Given the description of an element on the screen output the (x, y) to click on. 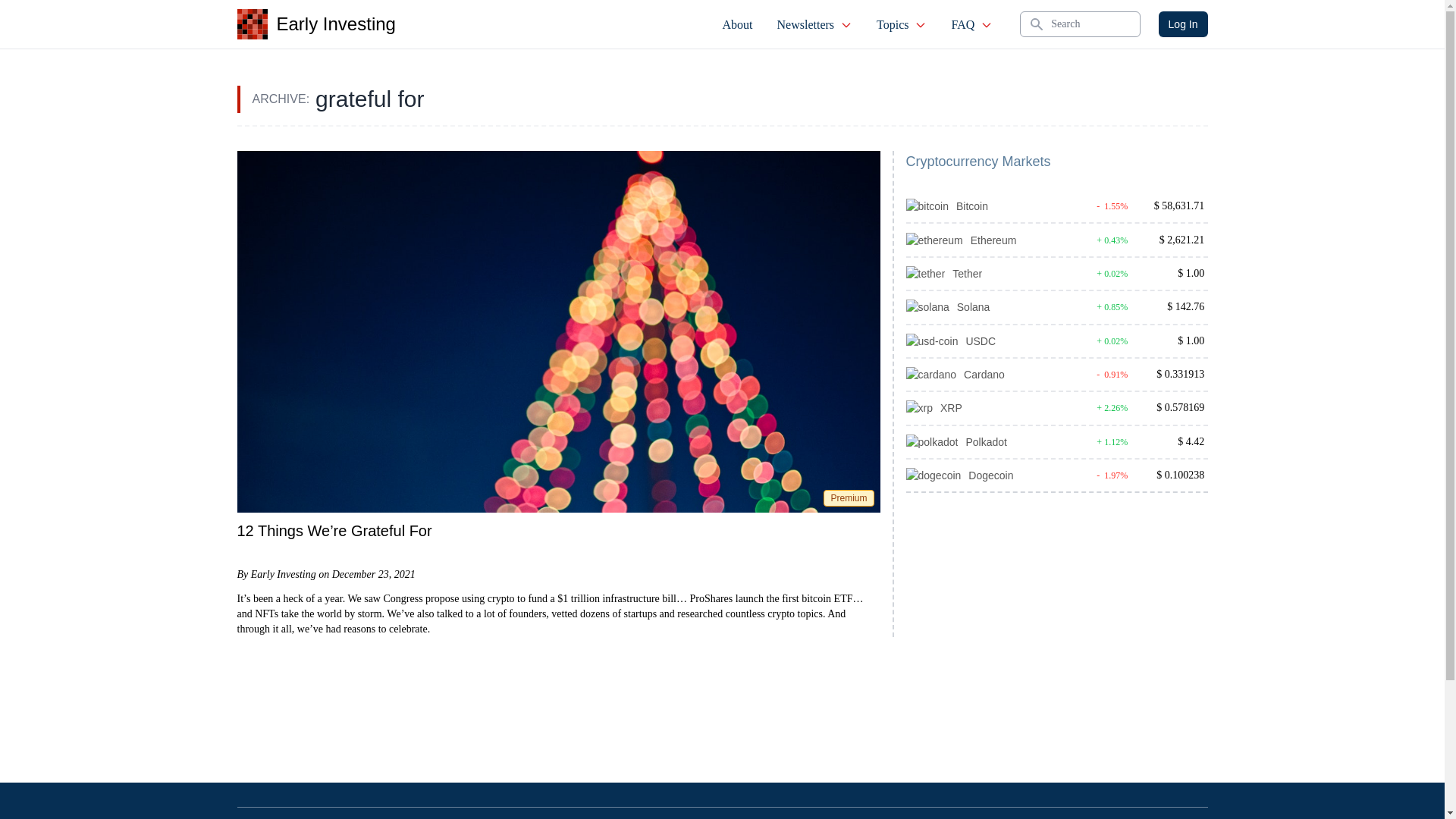
Newsletters (814, 24)
Topics (901, 24)
FAQ (971, 24)
Early Investing (314, 24)
Log In (1183, 23)
